Given the description of an element on the screen output the (x, y) to click on. 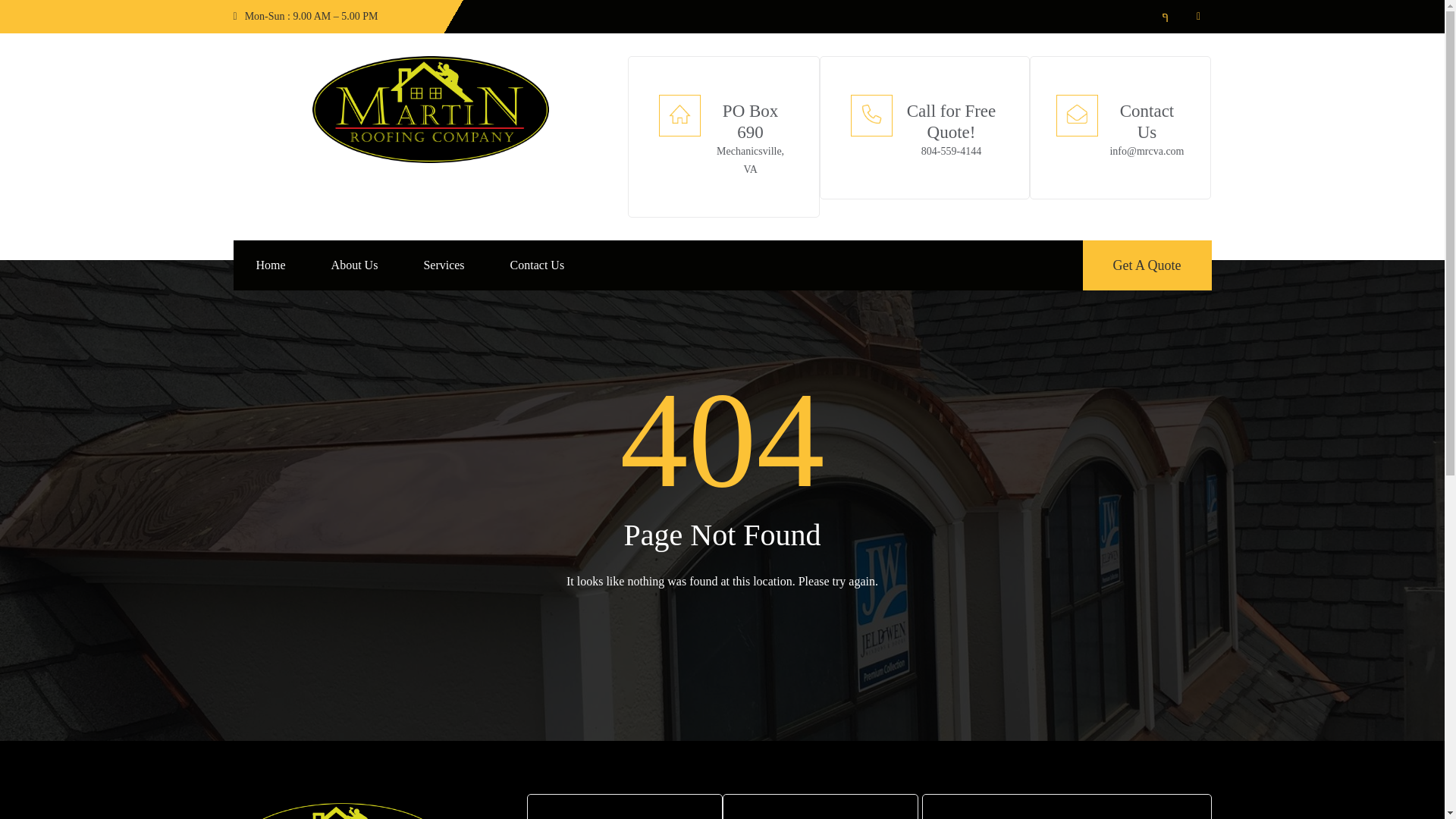
Home (270, 265)
Contact Us (537, 265)
Services (443, 265)
Get A Quote (1147, 265)
About Us (354, 265)
